Given the description of an element on the screen output the (x, y) to click on. 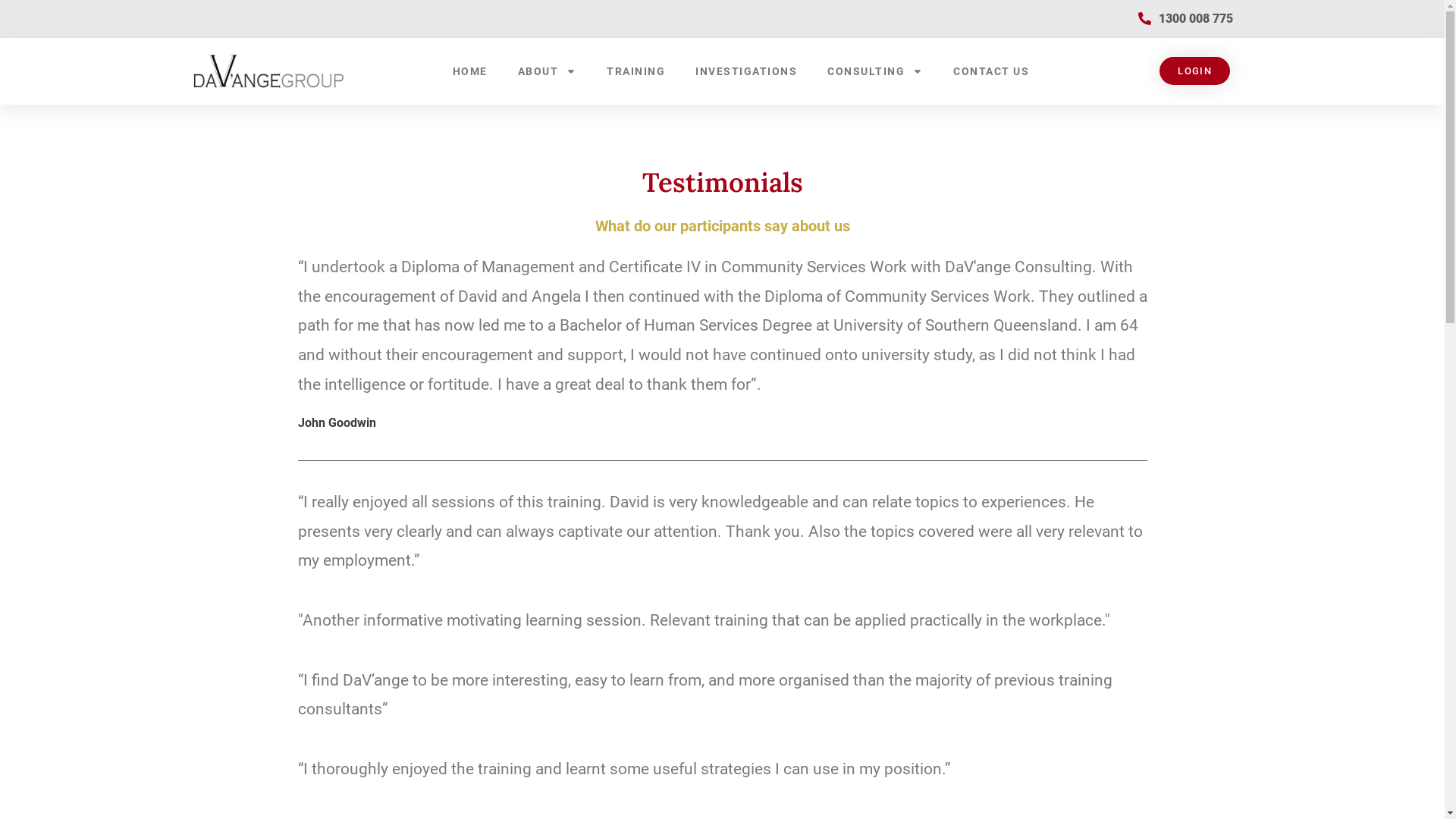
1300 008 775 Element type: text (1185, 18)
DG Web Logo Element type: hover (268, 70)
HOME Element type: text (469, 71)
ABOUT Element type: text (547, 71)
INVESTIGATIONS Element type: text (746, 71)
CONSULTING Element type: text (875, 71)
LOGIN Element type: text (1194, 70)
CONTACT US Element type: text (991, 71)
TRAINING Element type: text (635, 71)
